Given the description of an element on the screen output the (x, y) to click on. 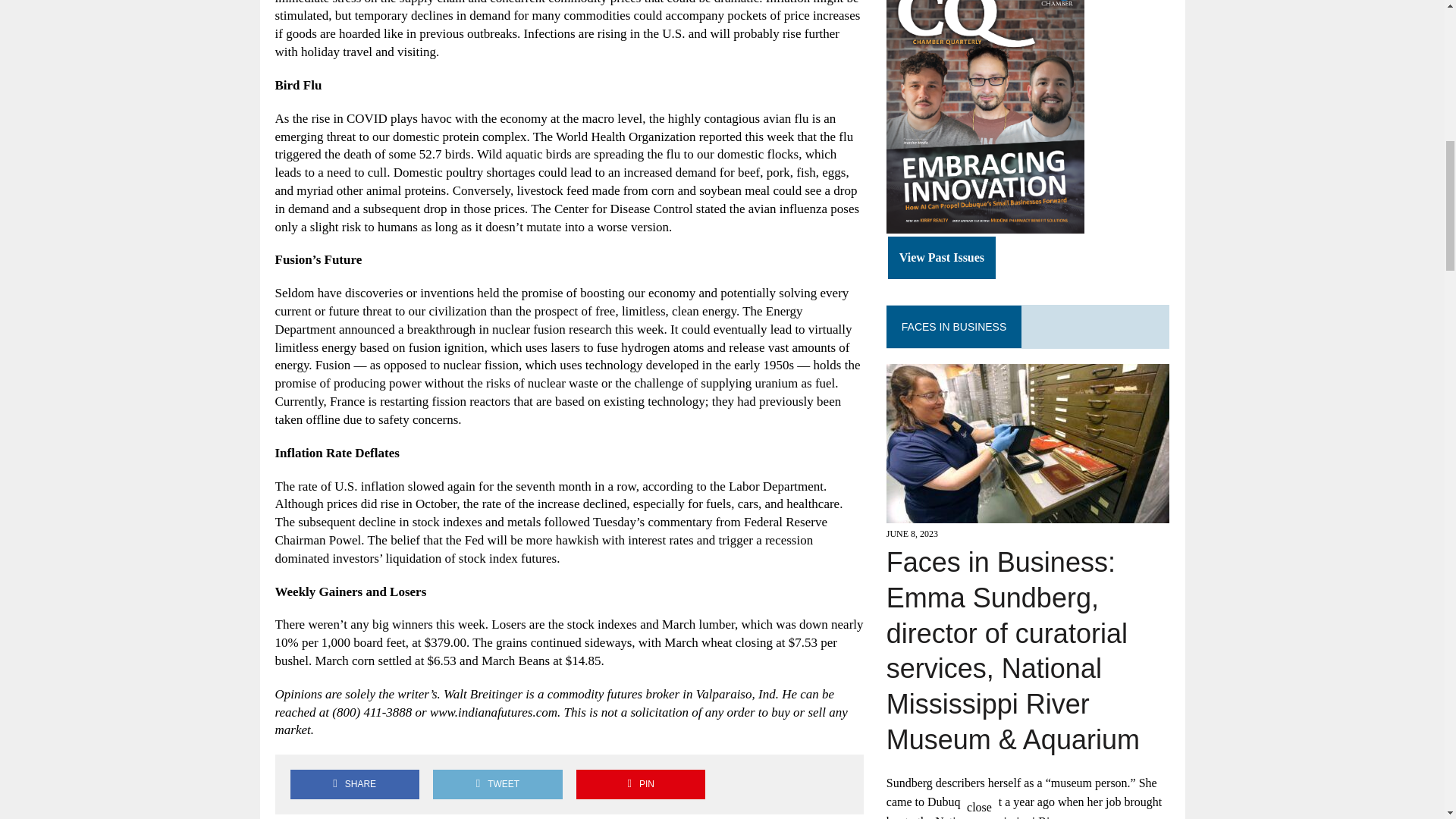
PIN (640, 784)
View Past Issues (941, 257)
Share on Facebook (354, 784)
FACES IN BUSINESS (953, 326)
Pin This Post (640, 784)
TWEET (497, 784)
SHARE (354, 784)
Tweet This Post (497, 784)
